Given the description of an element on the screen output the (x, y) to click on. 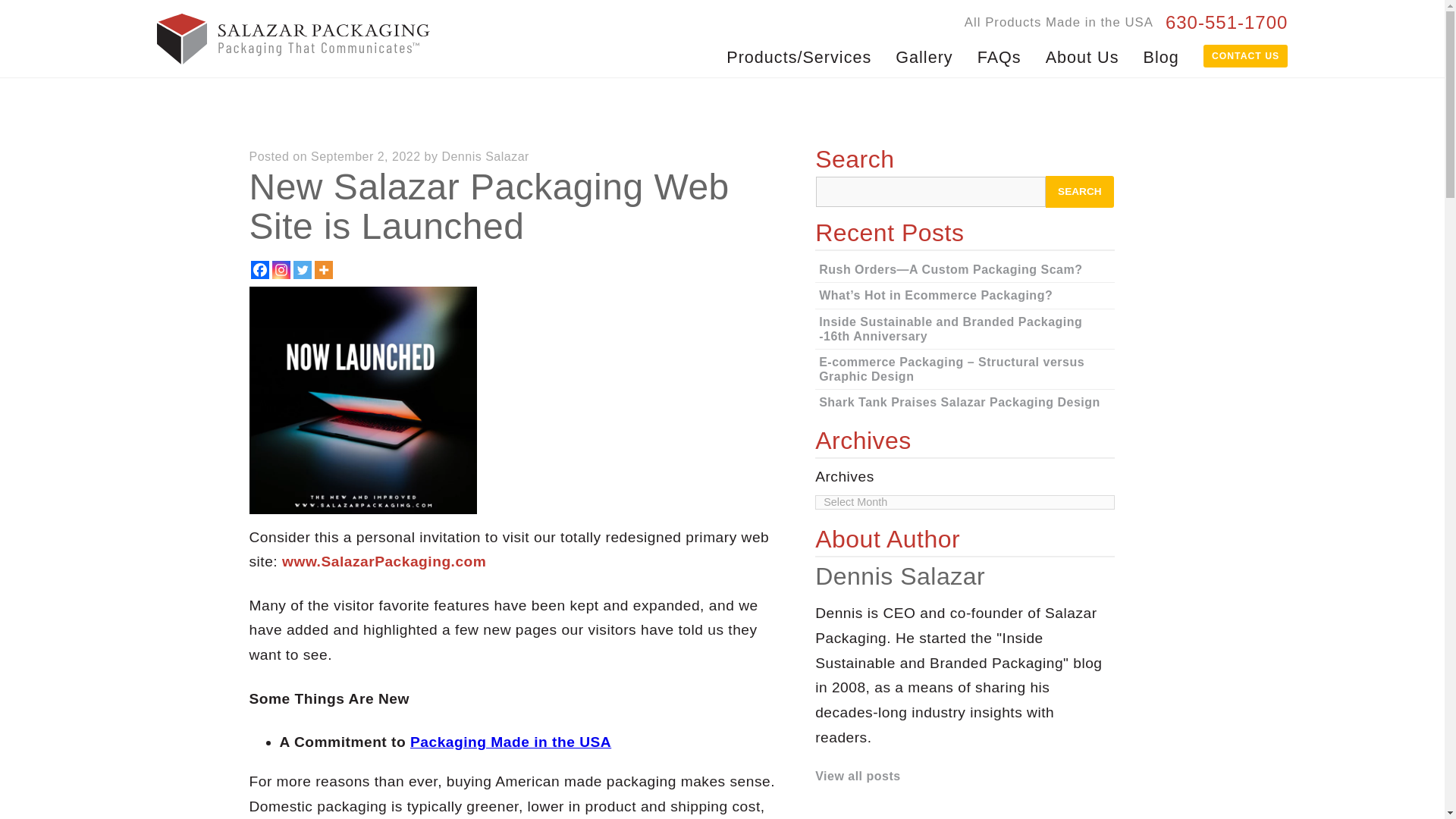
Gallery (923, 56)
CONTACT US (1246, 56)
Packaging Made in the USA (510, 741)
All Products Made in the USA (1058, 22)
SEARCH (1079, 192)
Facebook (258, 270)
FAQs (999, 56)
Instagram (279, 270)
About Us (1082, 56)
Blog (1159, 56)
www.SalazarPackaging.com (384, 561)
Twitter (301, 270)
630-551-1700 (1226, 24)
More (322, 270)
